Given the description of an element on the screen output the (x, y) to click on. 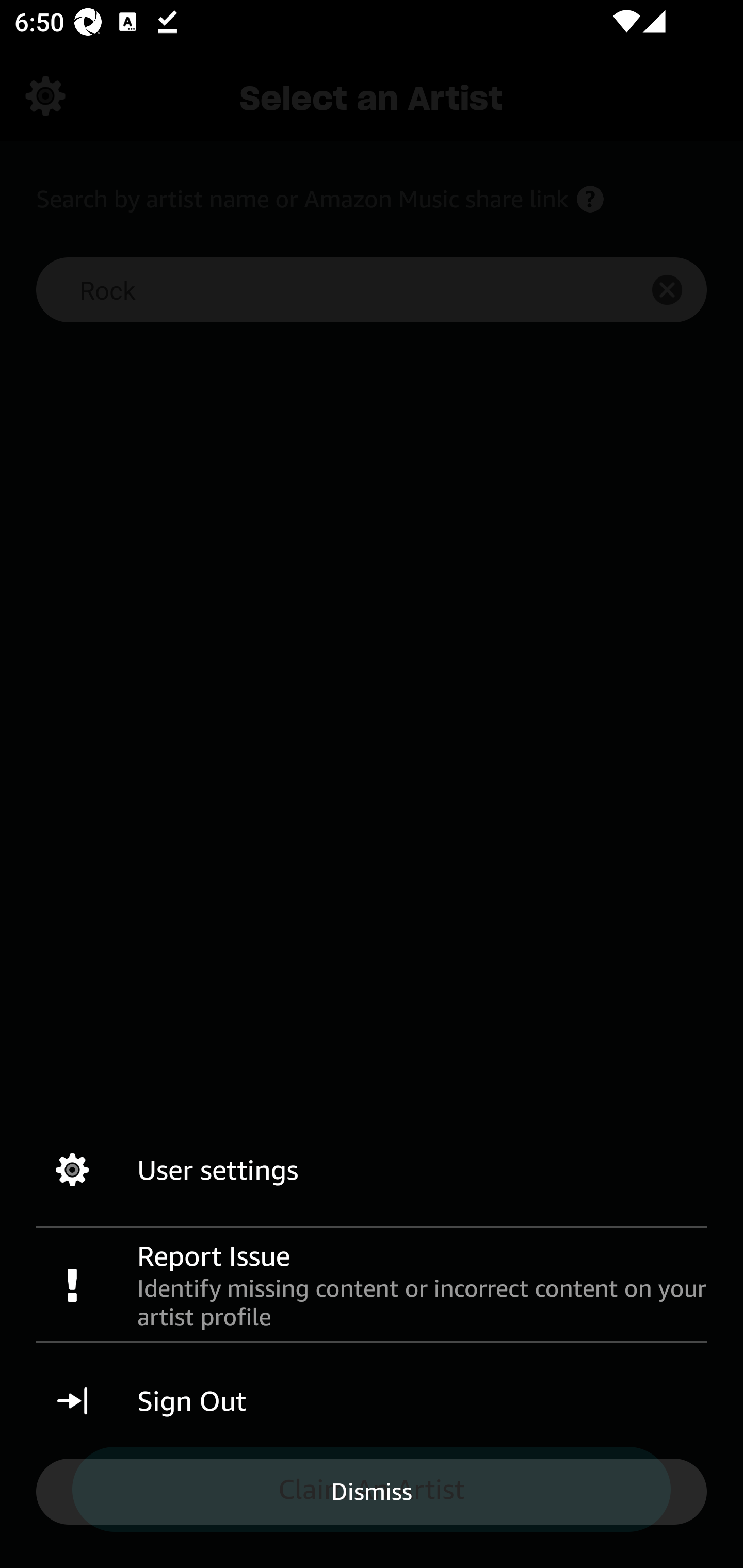
User settings  icon User settings User settings (371, 1169)
Sign Out  icon Sign Out Sign Out (371, 1400)
Dismiss button Dismiss (371, 1491)
